Given the description of an element on the screen output the (x, y) to click on. 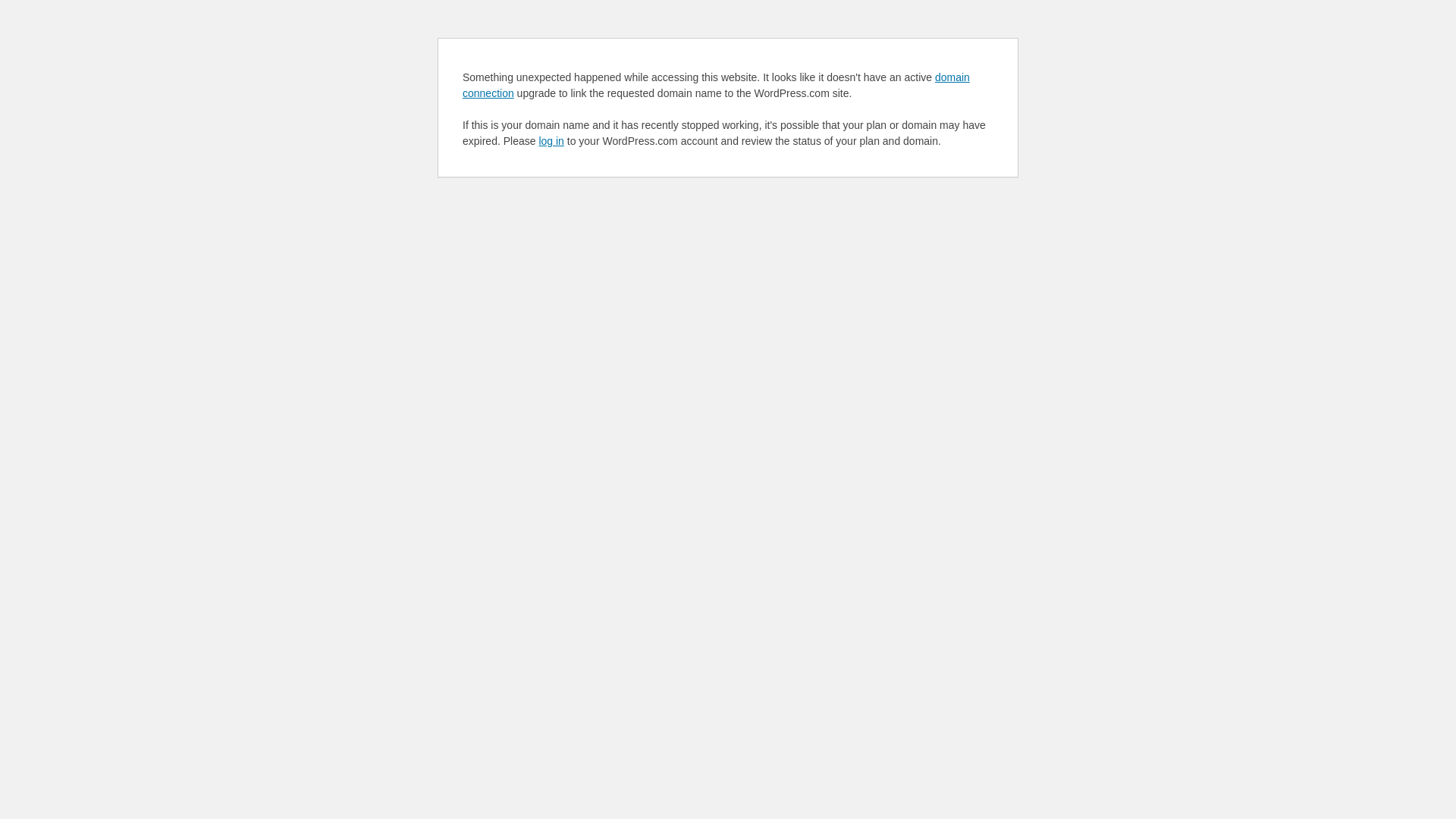
log in Element type: text (550, 140)
domain connection Element type: text (715, 85)
